Given the description of an element on the screen output the (x, y) to click on. 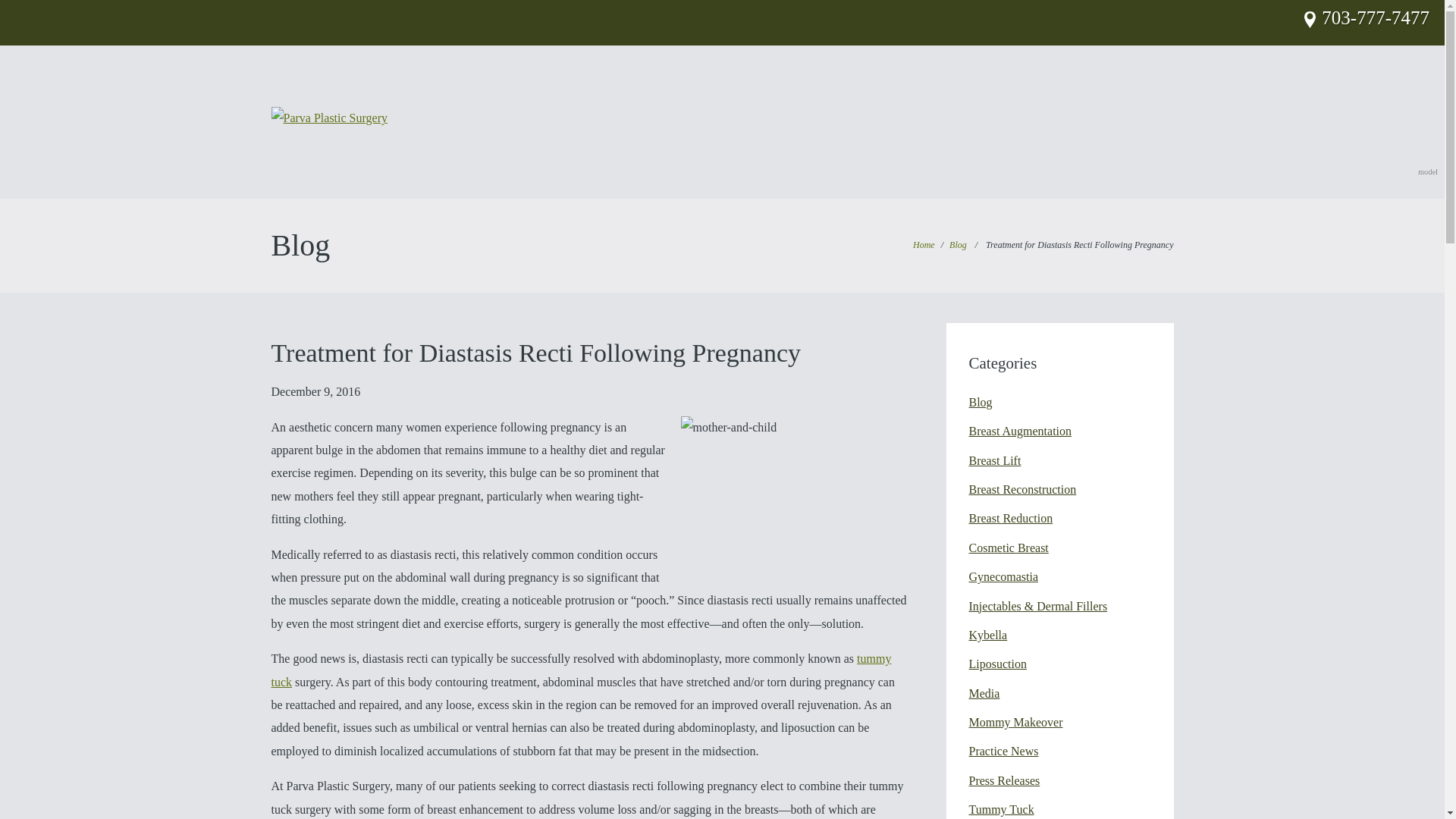
Parva Plastic Surgery (328, 116)
Phone Number (1375, 17)
